Given the description of an element on the screen output the (x, y) to click on. 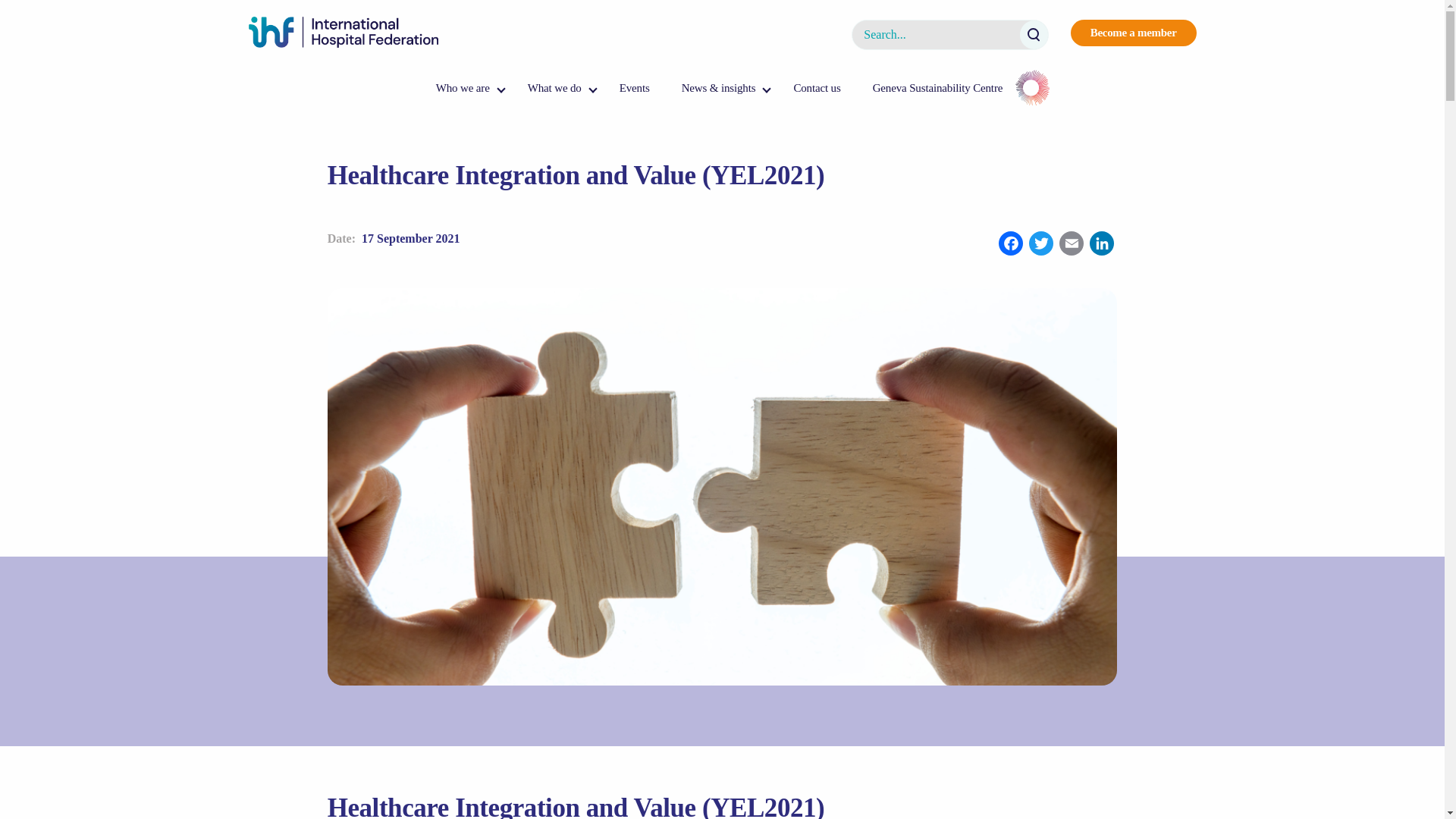
LinkedIn (1101, 244)
Search for: (949, 34)
Email (1071, 244)
Facebook (1010, 244)
Twitter (1041, 244)
